Given the description of an element on the screen output the (x, y) to click on. 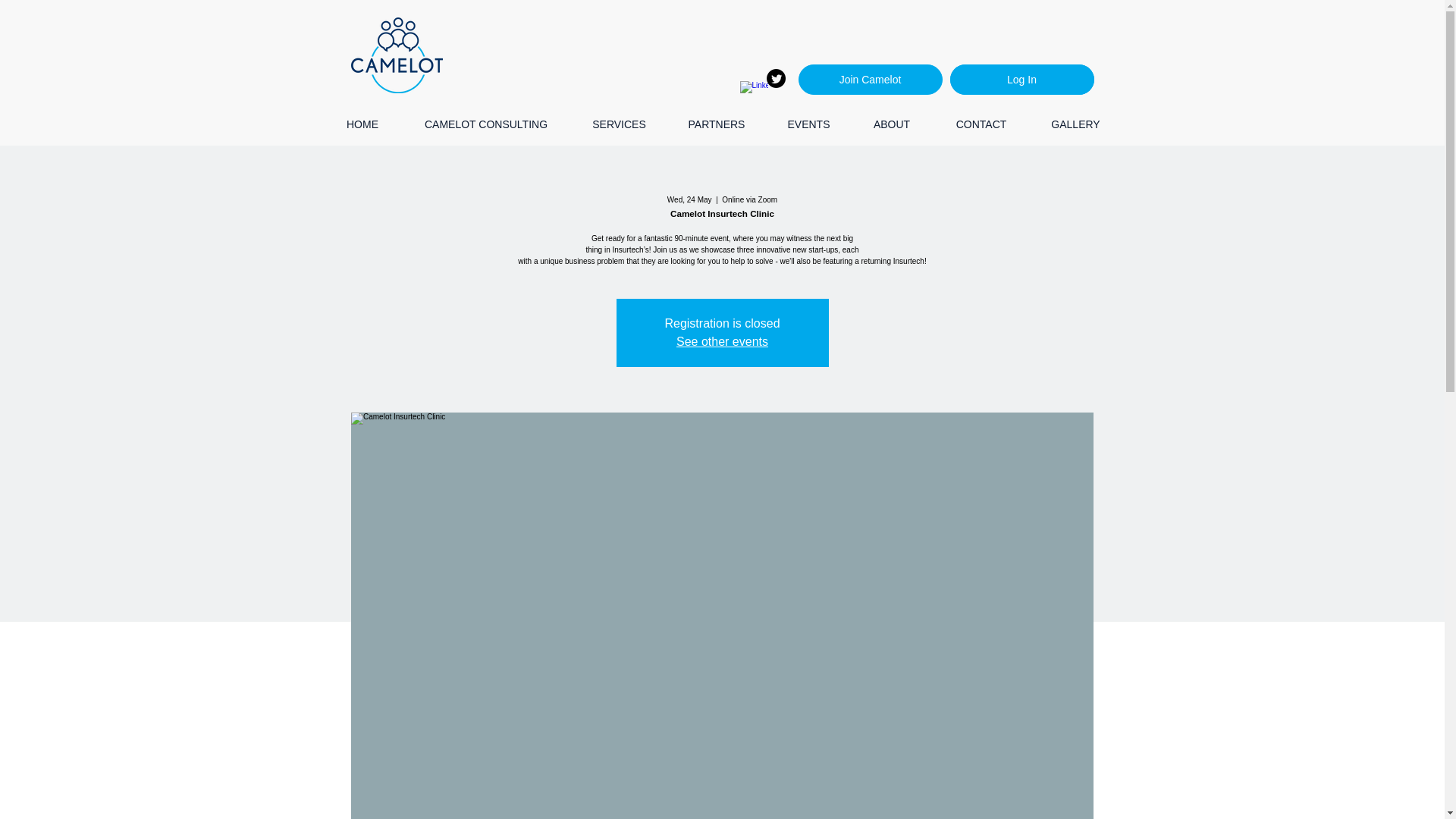
Log In (1021, 79)
CONTACT (981, 124)
Join Camelot (869, 79)
PARTNERS (716, 124)
HOME (362, 124)
SERVICES (619, 124)
See other events (722, 341)
EVENTS (807, 124)
GALLERY (1075, 124)
MEMBER LOG-IN (1024, 79)
